Given the description of an element on the screen output the (x, y) to click on. 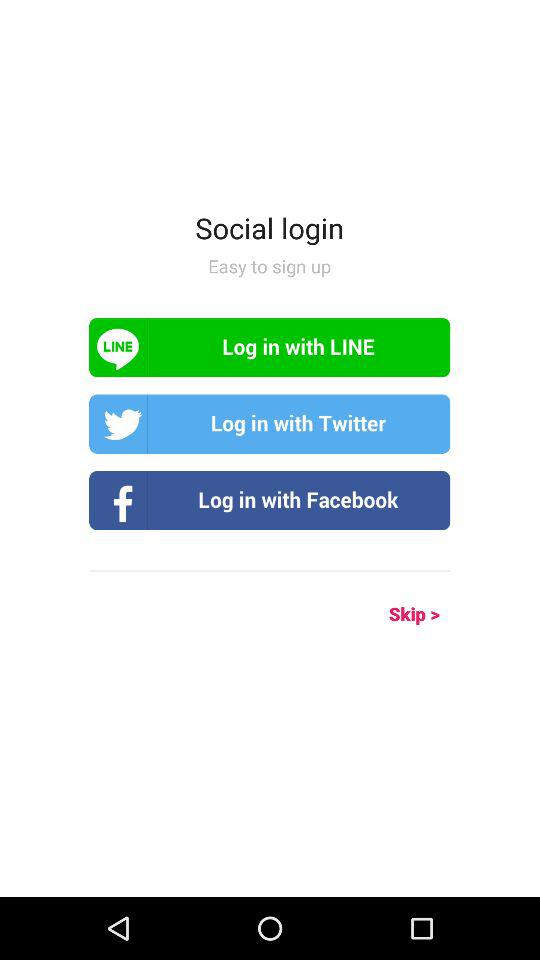
select skip > button (392, 614)
